Given the description of an element on the screen output the (x, y) to click on. 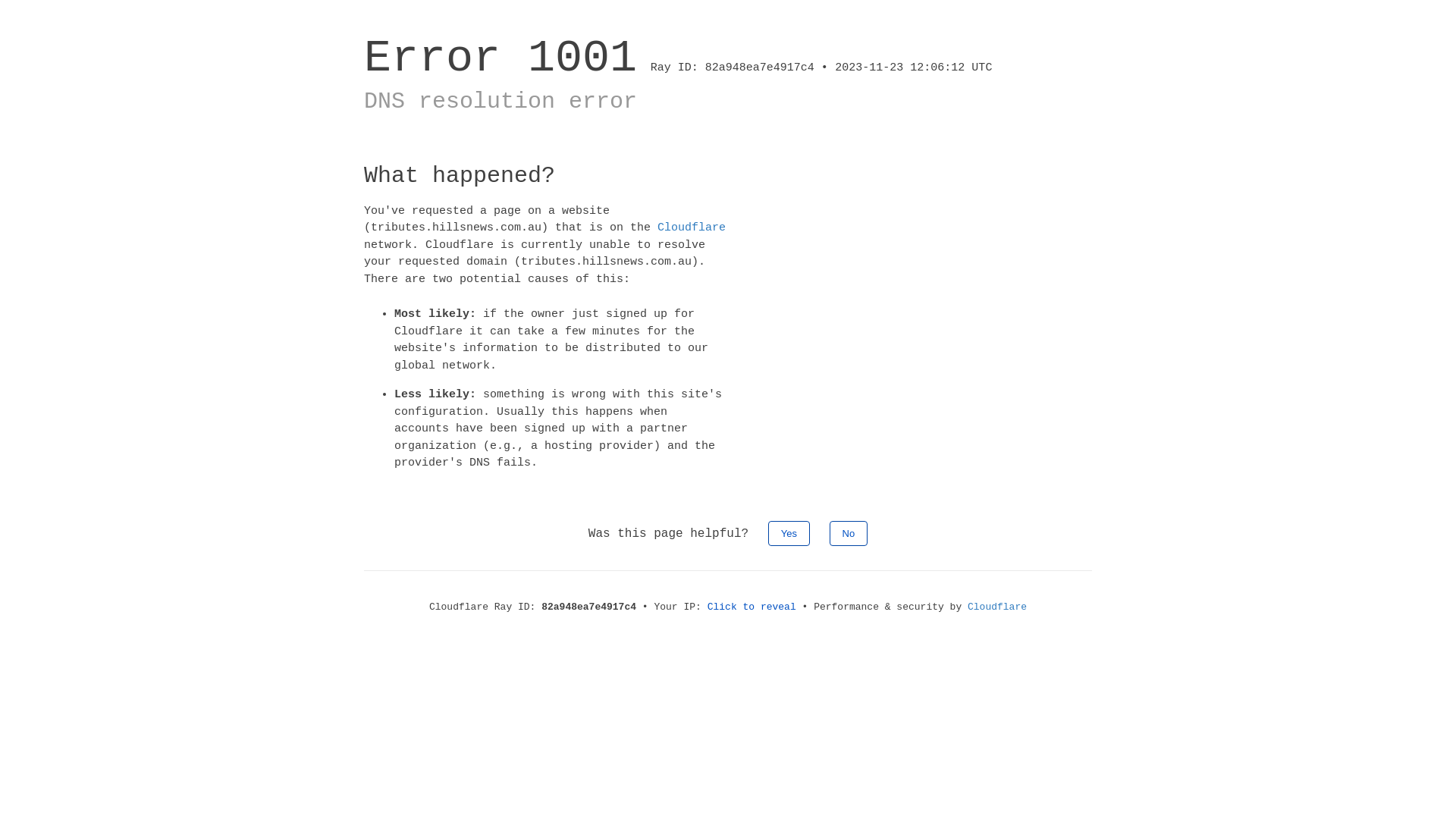
No Element type: text (848, 532)
Click to reveal Element type: text (751, 605)
Cloudflare Element type: text (996, 605)
Yes Element type: text (788, 532)
Cloudflare Element type: text (691, 227)
